Given the description of an element on the screen output the (x, y) to click on. 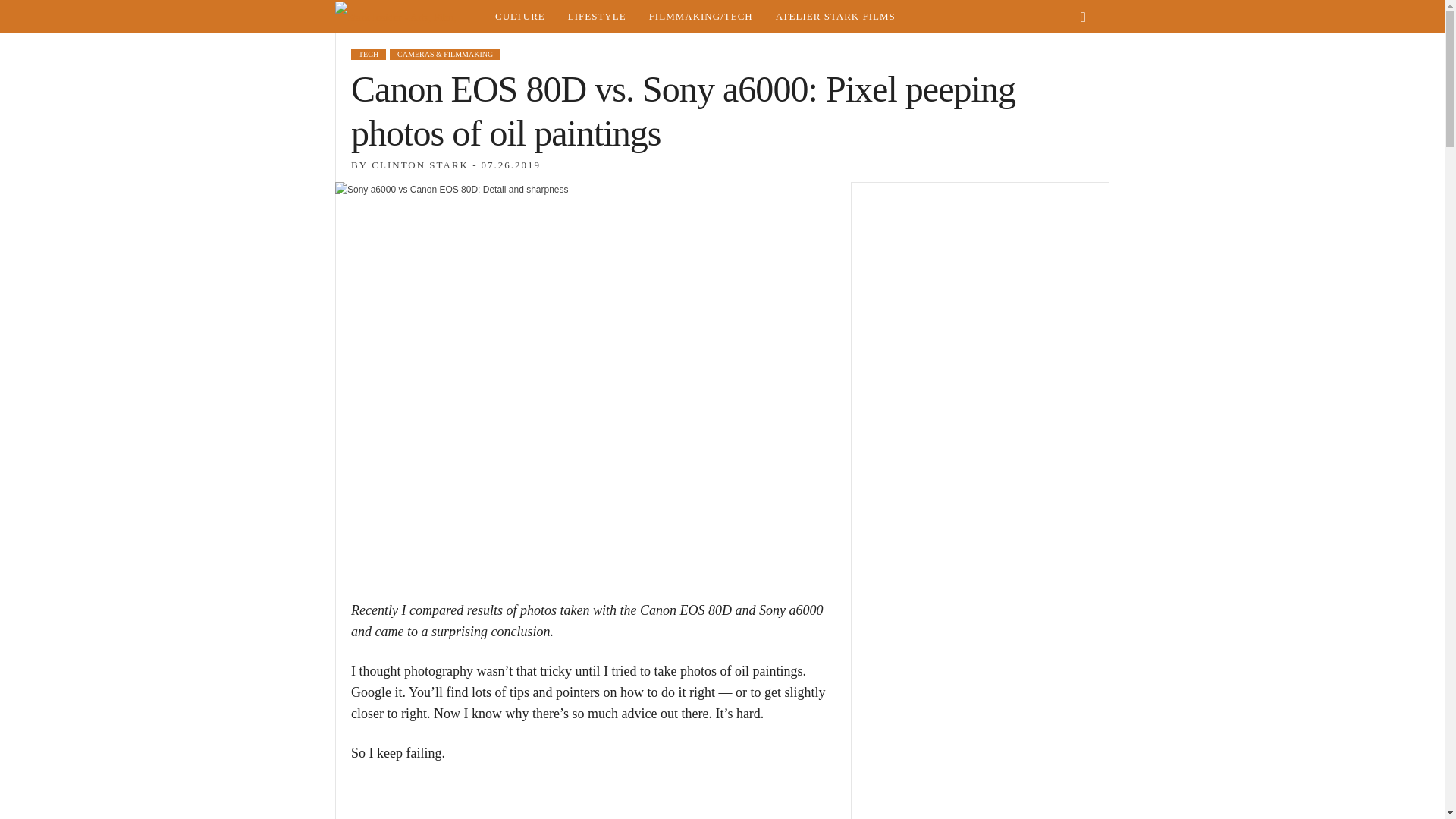
CULTURE (519, 16)
ATELIER STARK FILMS (835, 16)
LIFESTYLE (596, 16)
Stark Insider (408, 16)
Indie film, music, arts in San Francisco and Silicon Valley (519, 16)
CLINTON STARK (419, 164)
Tech, gadgets, camera news and reviews from Silicon Valley (700, 16)
TECH (367, 54)
